Given the description of an element on the screen output the (x, y) to click on. 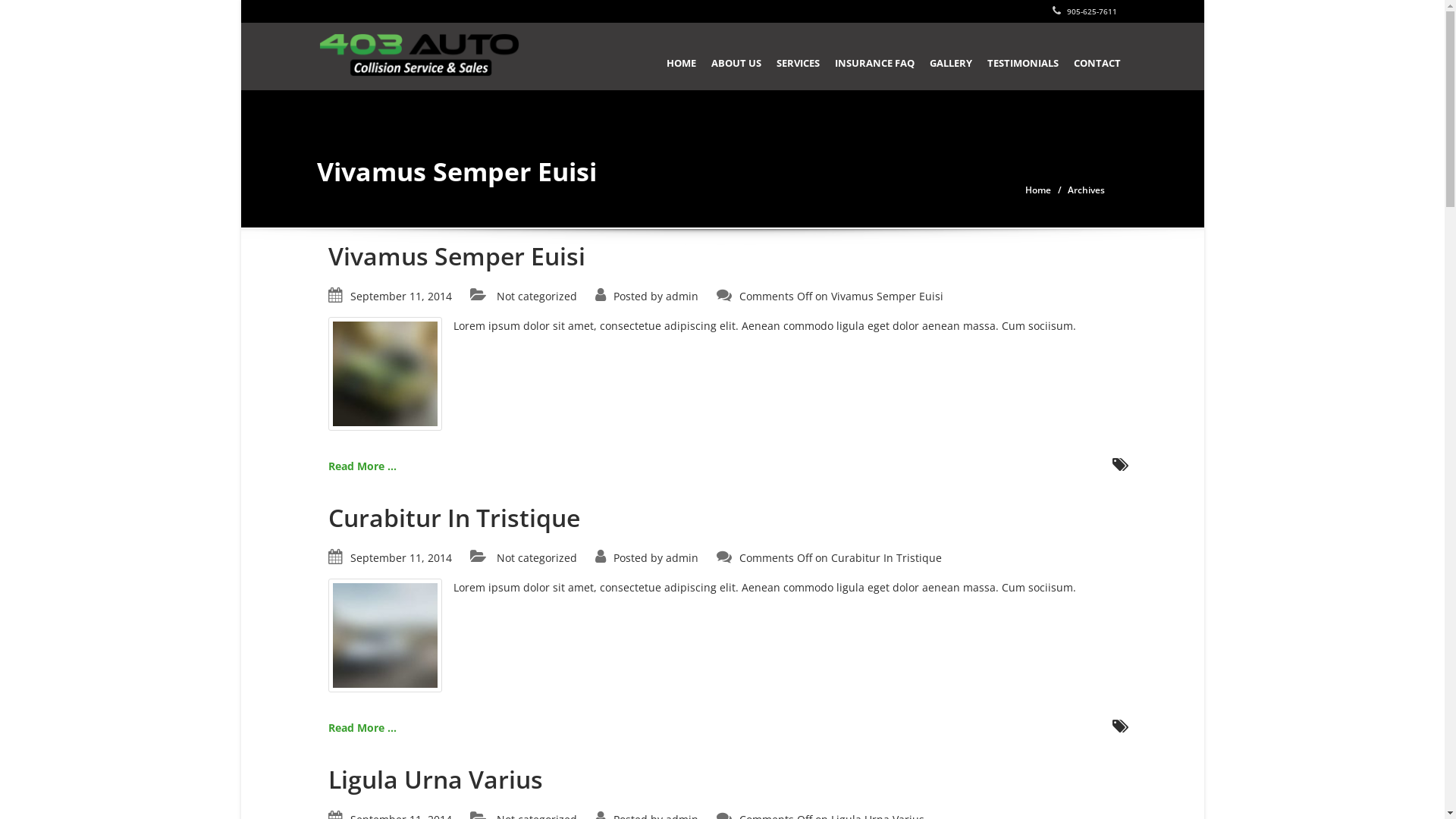
Read More ... Element type: text (361, 727)
INSURANCE FAQ Element type: text (873, 56)
admin Element type: text (681, 557)
Vivamus Semper Euisi Element type: hover (384, 372)
HOME Element type: text (680, 56)
TESTIMONIALS Element type: text (1022, 56)
Ligula Urna Varius Element type: text (434, 778)
ABOUT US Element type: text (735, 56)
admin Element type: text (681, 295)
September 11, 2014 Element type: text (400, 295)
Home Element type: text (1038, 189)
GALLERY Element type: text (950, 56)
CONTACT Element type: text (1097, 56)
Read More ... Element type: text (361, 465)
Curabitur In Tristique Element type: text (453, 517)
Vivamus Semper Euisi Element type: text (455, 255)
Curabitur In Tristique Element type: hover (384, 634)
SERVICES Element type: text (797, 56)
905-625-7611 Element type: text (1084, 11)
September 11, 2014 Element type: text (400, 557)
